Given the description of an element on the screen output the (x, y) to click on. 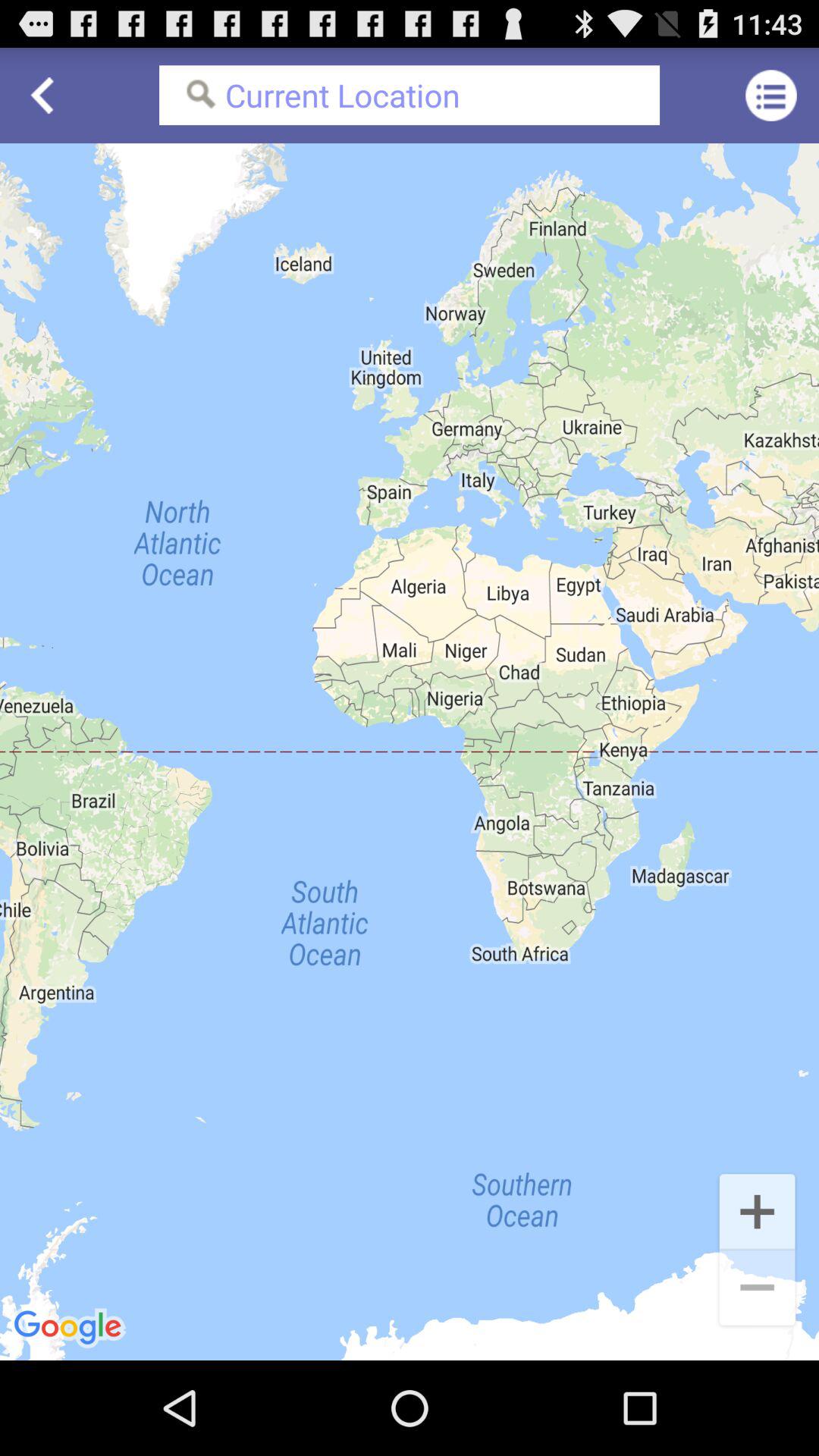
turn on the icon at the top right corner (771, 95)
